Given the description of an element on the screen output the (x, y) to click on. 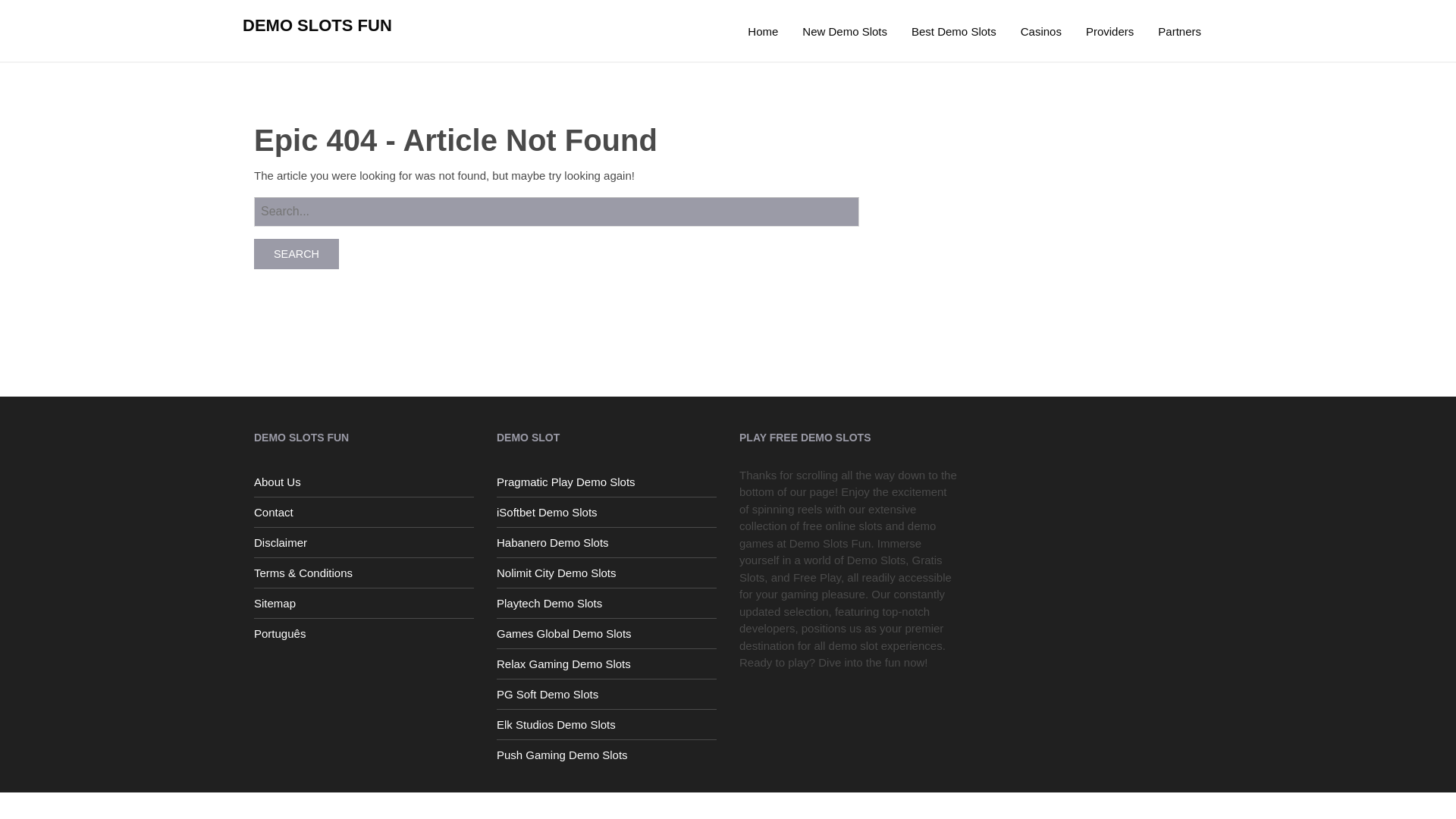
iSoftbet Demo Slots (606, 511)
Best Demo Slots (954, 31)
Demo Slots Fun (762, 31)
DEMO SLOTS FUN (317, 25)
Home (762, 31)
Disclaimer (363, 541)
Slots Providers (1109, 31)
iSoftbet Demo Slots (606, 511)
Nolimit City Demo Slots (606, 572)
Playtech Demo Slots (606, 602)
Pragmatic Play Demo Slots (606, 481)
New Demo Slots (844, 31)
Search (296, 253)
Playtech Demo Slots (606, 602)
Games Global Demo Slots (606, 632)
